Given the description of an element on the screen output the (x, y) to click on. 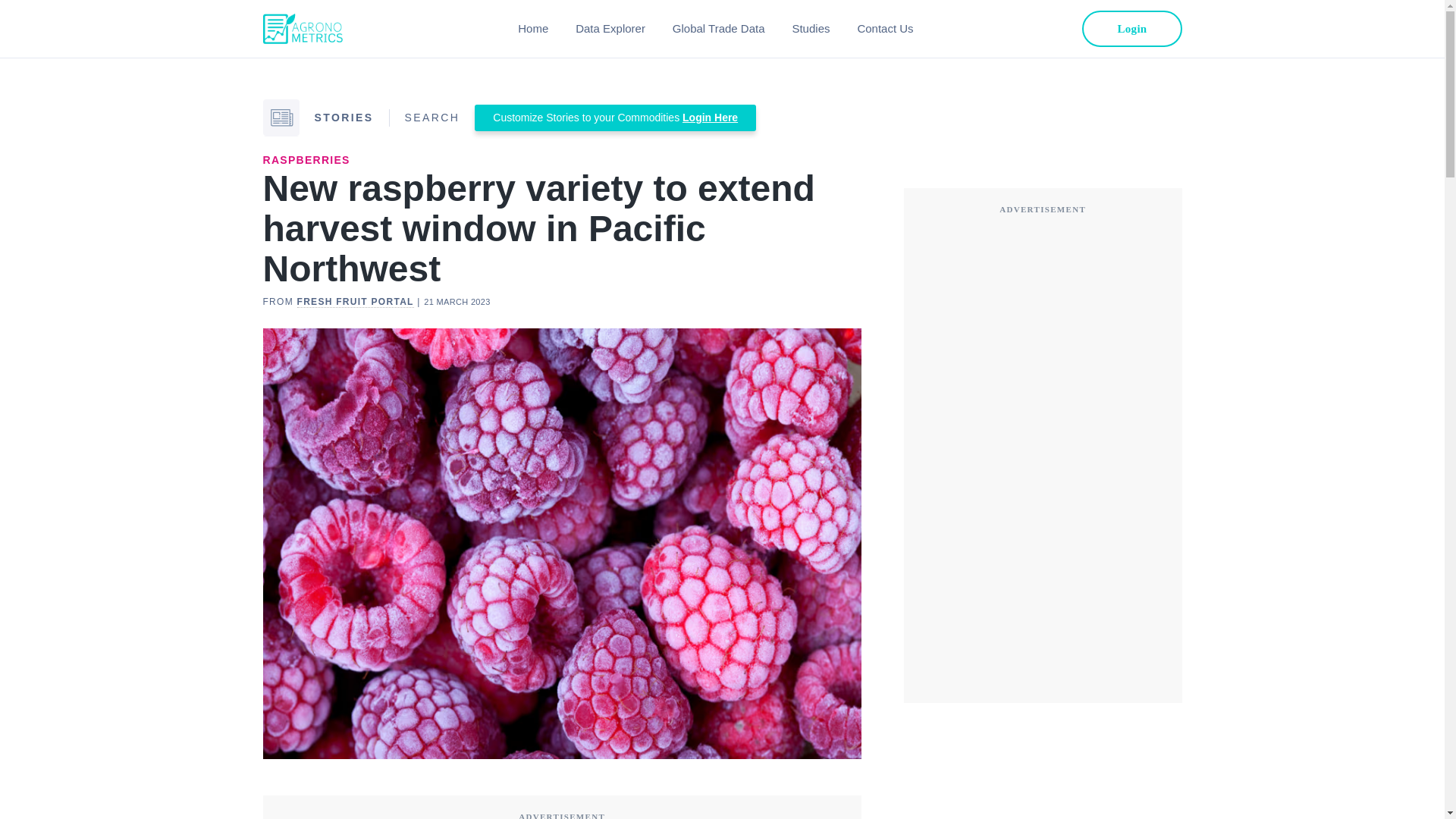
RASPBERRIES (305, 159)
SEARCH (432, 117)
Global Trade Data (718, 28)
Login (1130, 28)
STORIES (343, 117)
Data Explorer (610, 28)
Customize Stories to your Commodities Login Here (614, 117)
FRESH FRUIT PORTAL (355, 301)
Contact Us (884, 28)
